Given the description of an element on the screen output the (x, y) to click on. 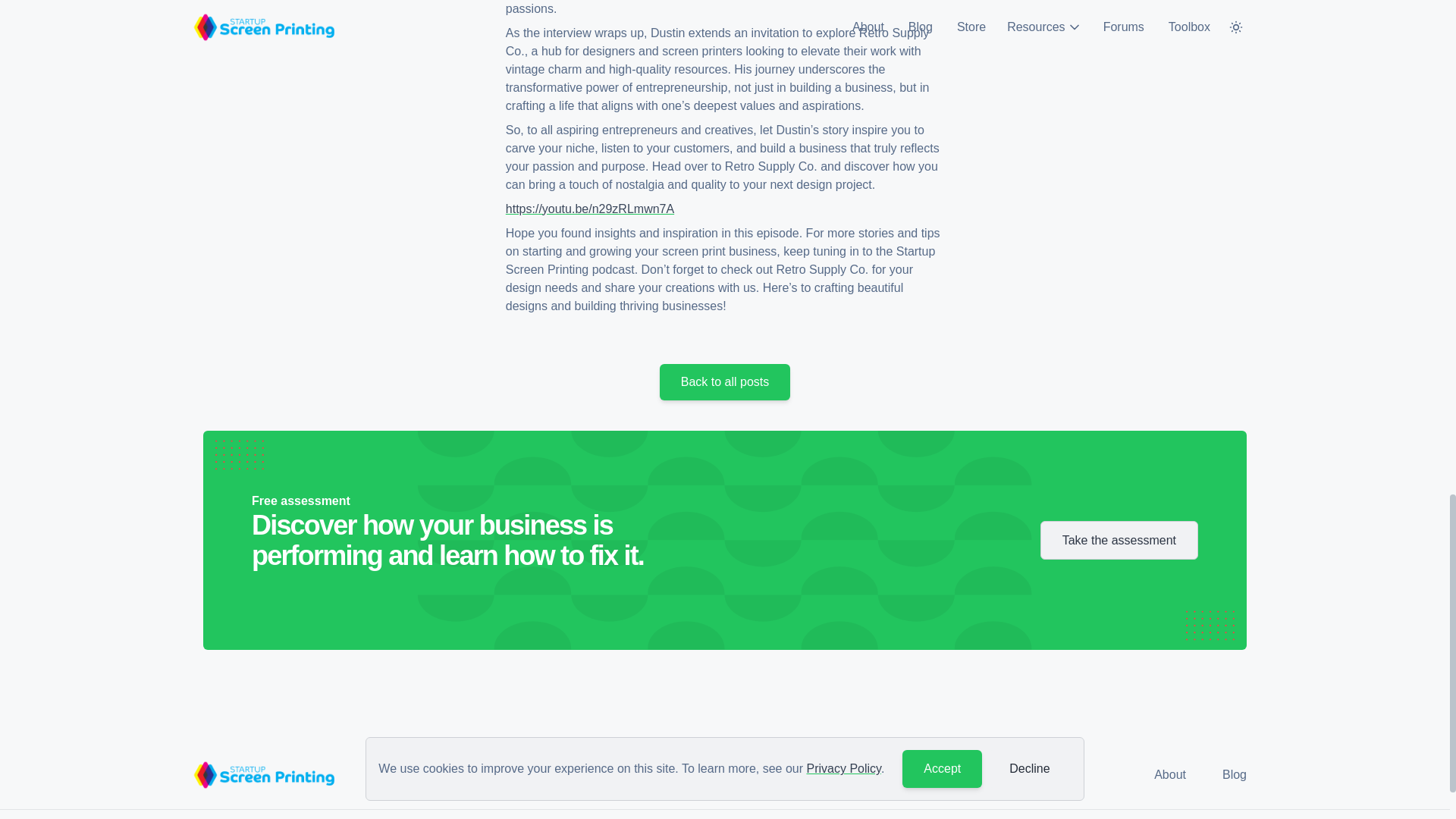
Back to all posts (724, 381)
